Given the description of an element on the screen output the (x, y) to click on. 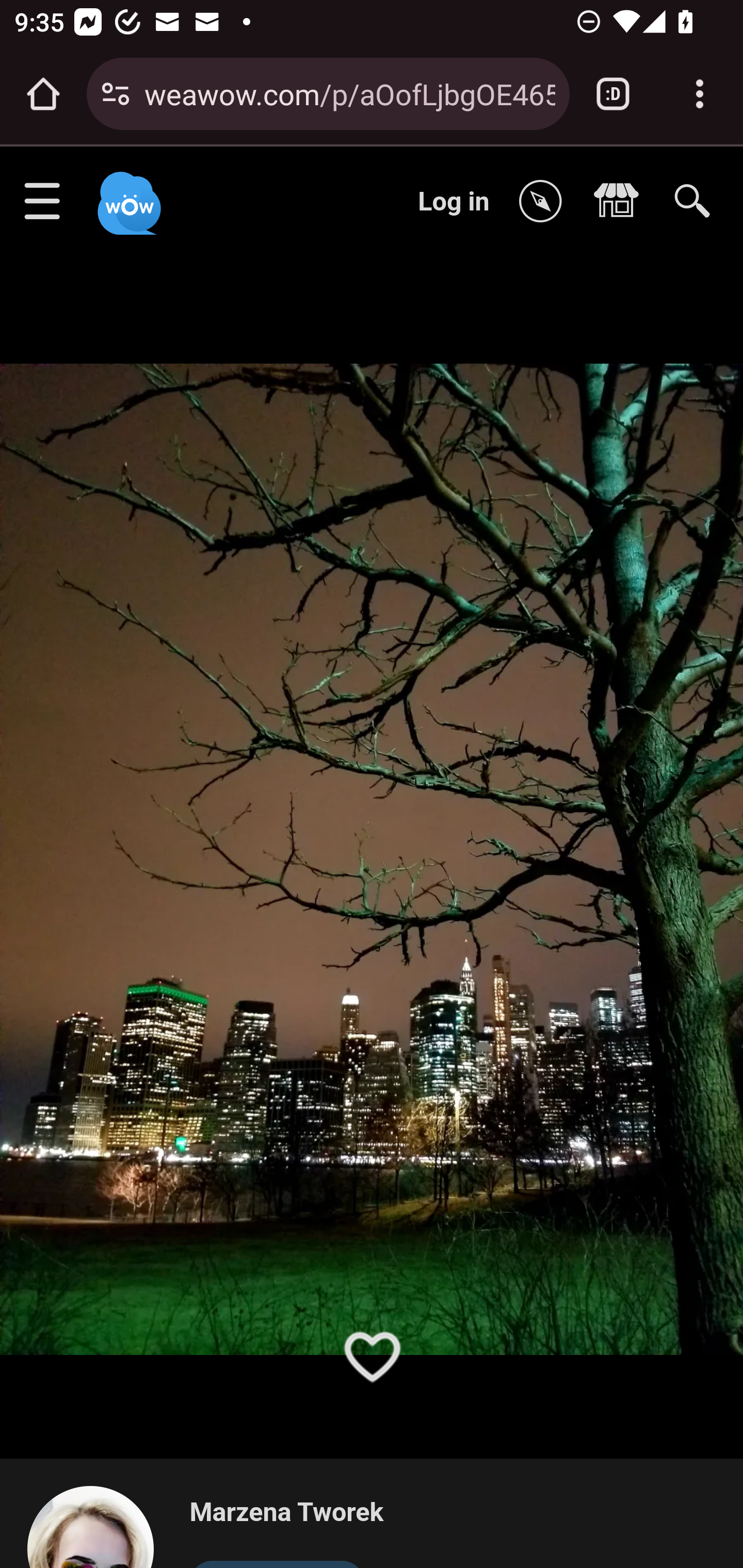
Open the home page (43, 93)
Connection is secure (115, 93)
Switch or close tabs (612, 93)
Customize and control Google Chrome (699, 93)
weawow.com/p/aOofLjbgOE46530 (349, 92)
Weawow (127, 194)
 (545, 201)
 (621, 201)
Log in (453, 201)
Marzena Tworek (285, 1513)
